Given the description of an element on the screen output the (x, y) to click on. 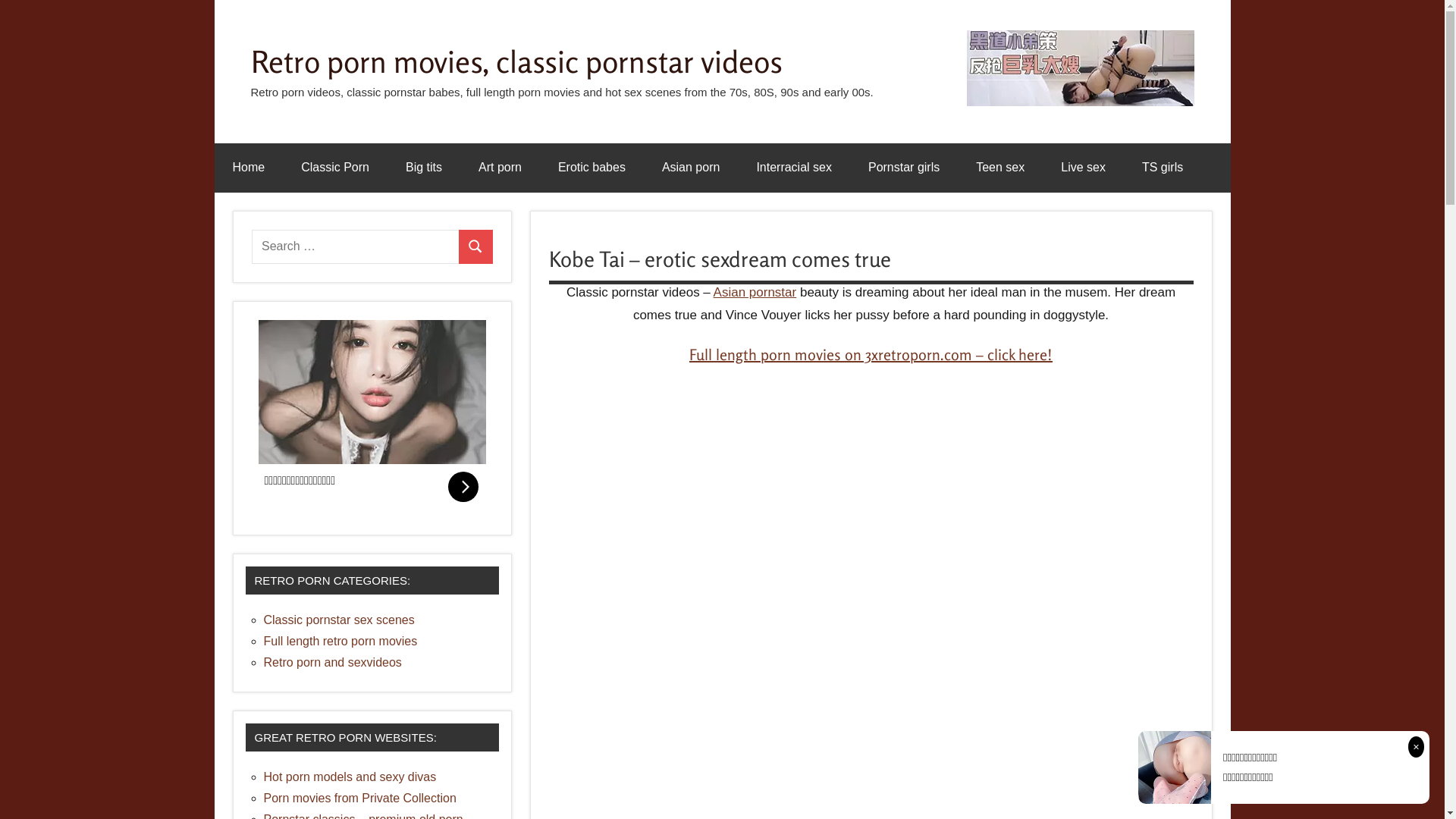
Teen sex Element type: text (999, 167)
Search Element type: text (475, 246)
Asian pornstar Element type: text (755, 292)
Live sex Element type: text (1082, 167)
Retro porn and sexvideos Element type: text (332, 661)
Art porn Element type: text (499, 167)
Retro porn movies, classic pornstar videos Element type: text (515, 61)
Classic pornstar sex scenes Element type: text (338, 619)
Full length retro porn movies Element type: text (340, 640)
TS girls Element type: text (1162, 167)
Porn movies from Private Collection Element type: text (359, 797)
Home Element type: text (247, 167)
Search for: Element type: hover (355, 246)
Erotic babes Element type: text (591, 167)
Big tits Element type: text (423, 167)
Hot porn models and sexy divas Element type: text (349, 776)
Interracial sex Element type: text (793, 167)
Classic Porn Element type: text (334, 167)
Pornstar girls Element type: text (903, 167)
Skip to content Element type: text (213, 0)
Asian porn Element type: text (690, 167)
